Given the description of an element on the screen output the (x, y) to click on. 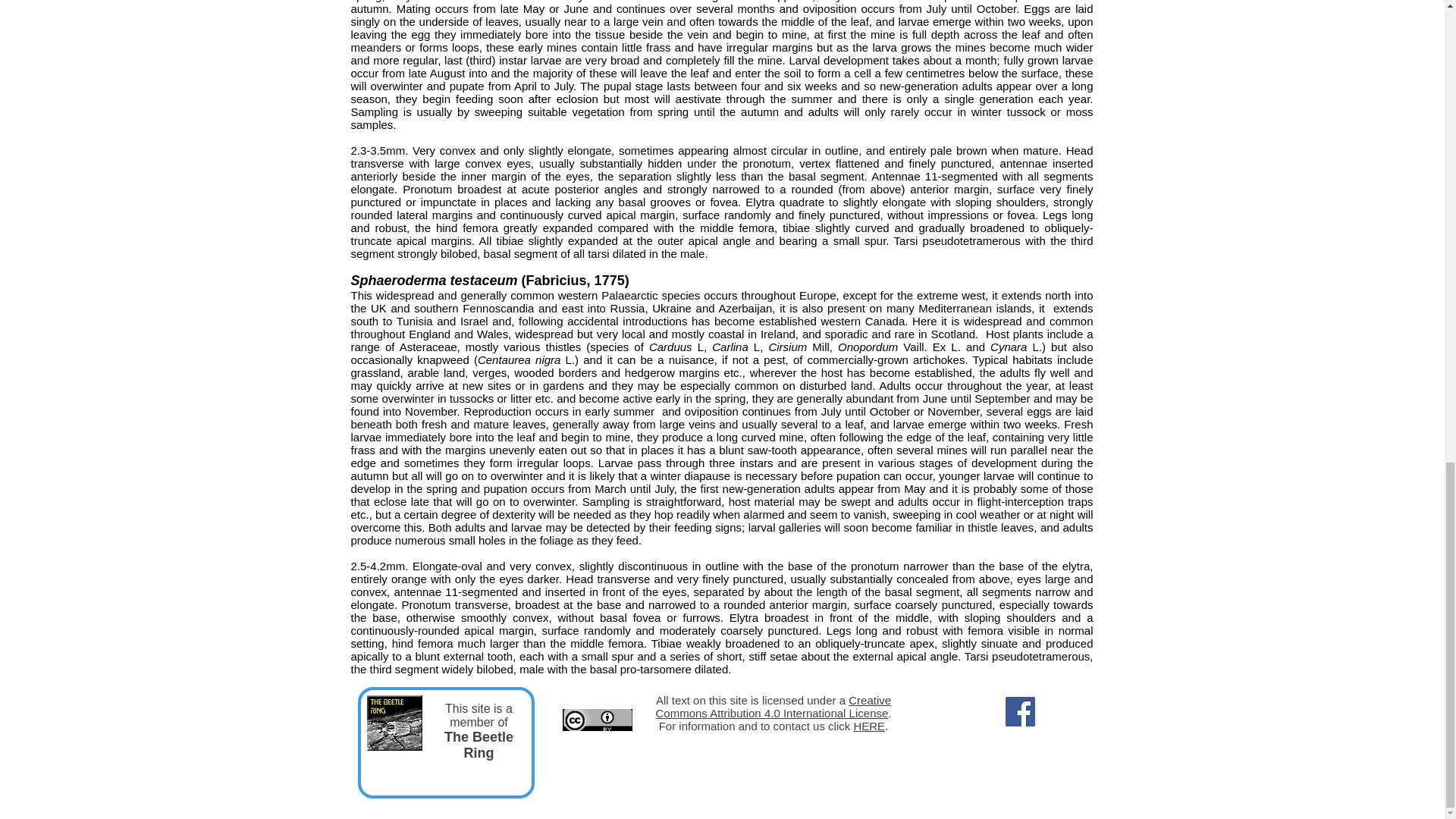
HERE (869, 725)
The Beetle Ring (478, 744)
Creative Commons Attribution 4.0 International License (773, 706)
